Given the description of an element on the screen output the (x, y) to click on. 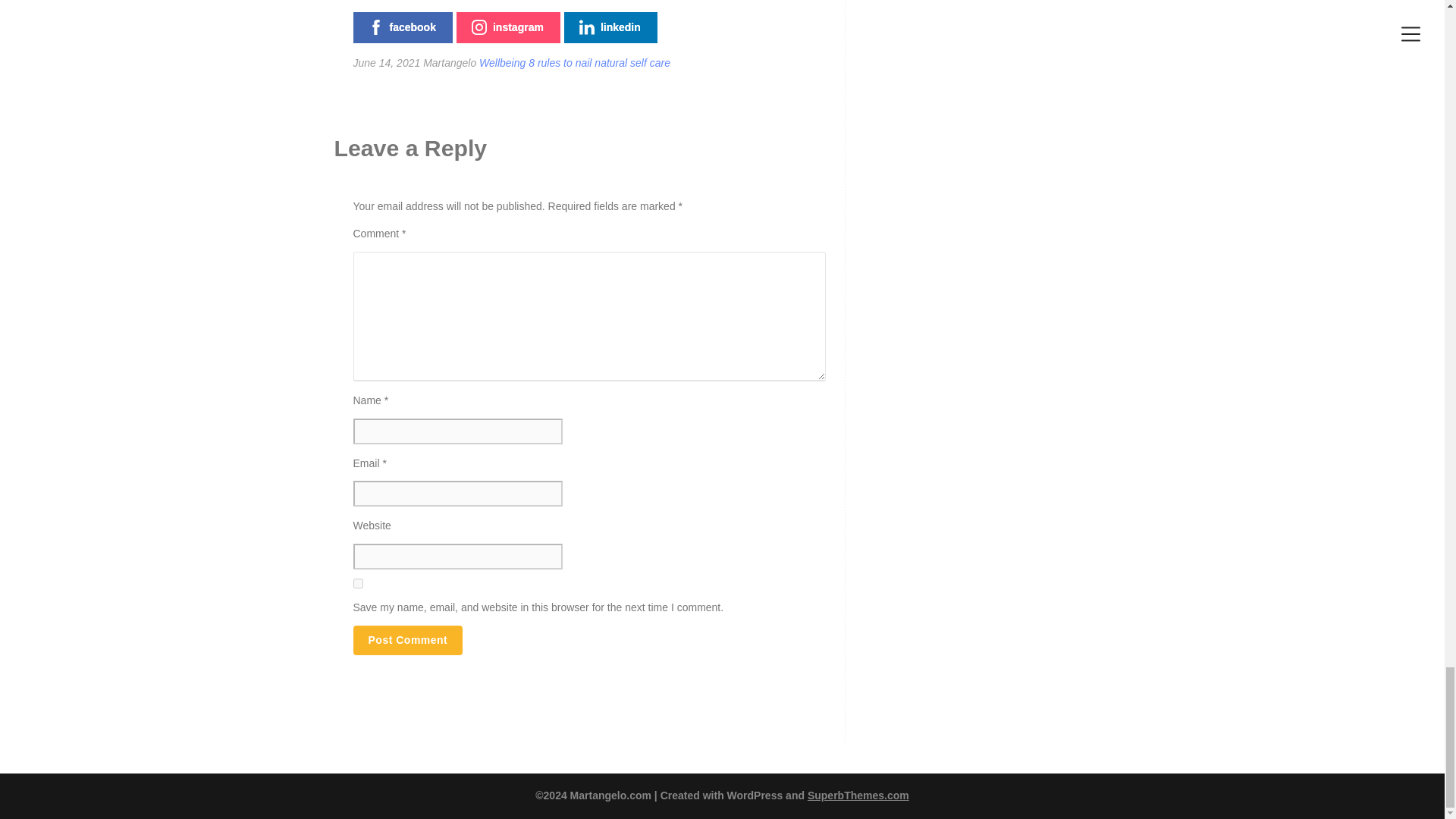
yes (357, 583)
Wellbeing (502, 62)
Post Comment (408, 640)
instagram (508, 27)
8 rules to nail natural self care (598, 62)
Post Comment (408, 640)
linkedin (611, 27)
facebook (402, 27)
